Given the description of an element on the screen output the (x, y) to click on. 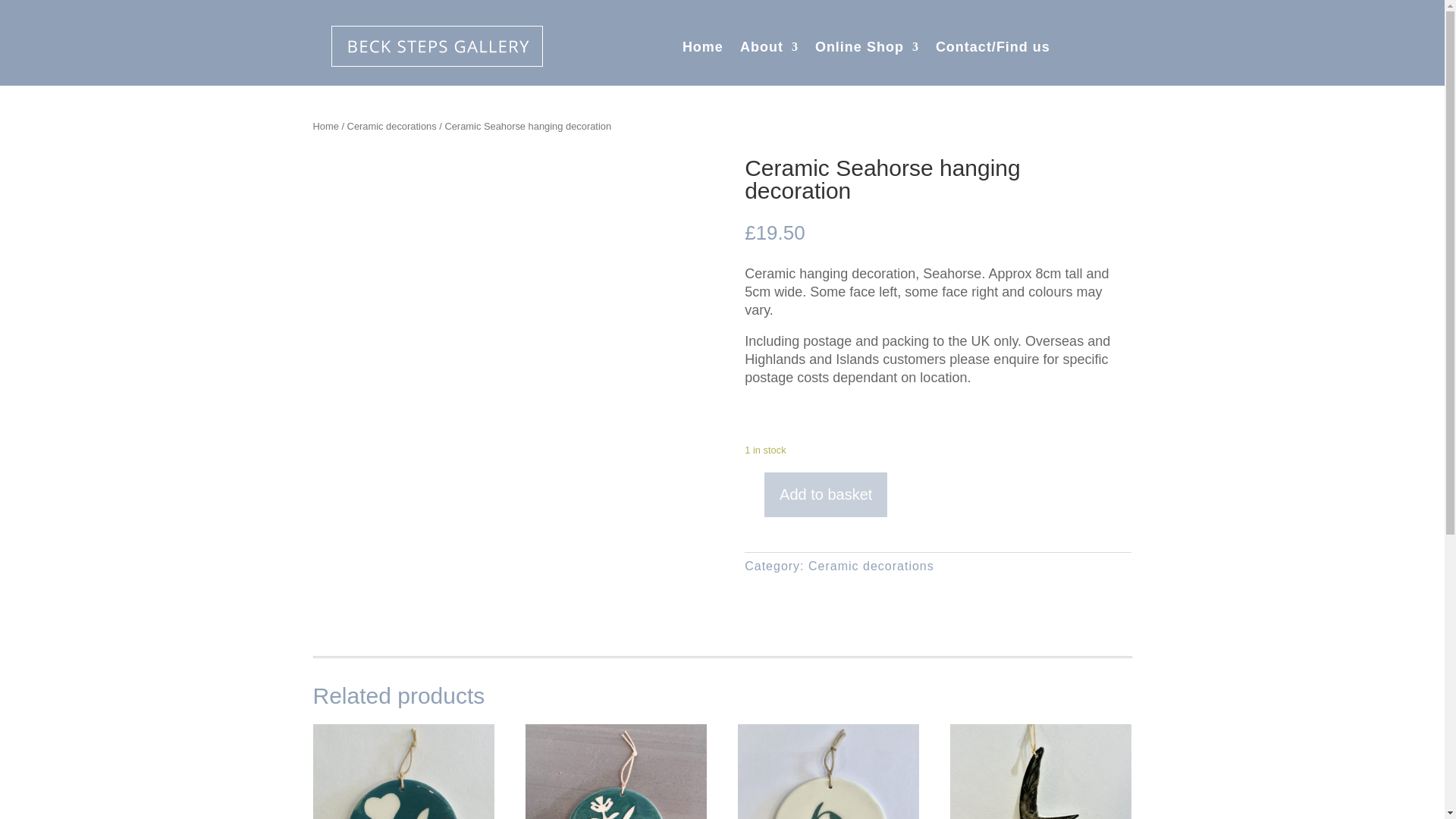
Online Shop (866, 49)
logo 1 (436, 45)
About (768, 49)
Home (702, 49)
